Given the description of an element on the screen output the (x, y) to click on. 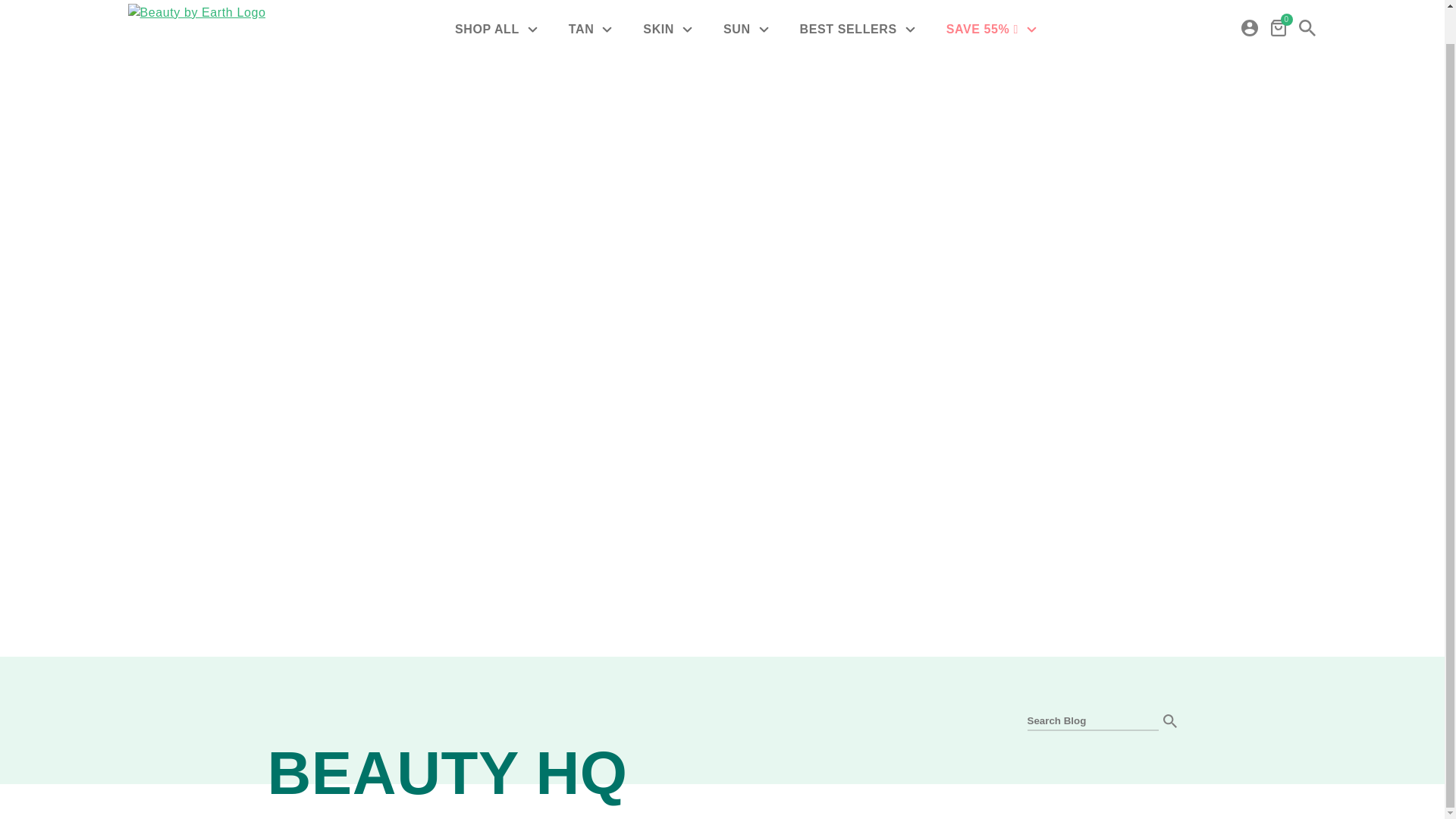
SHOP ALL (498, 26)
